Given the description of an element on the screen output the (x, y) to click on. 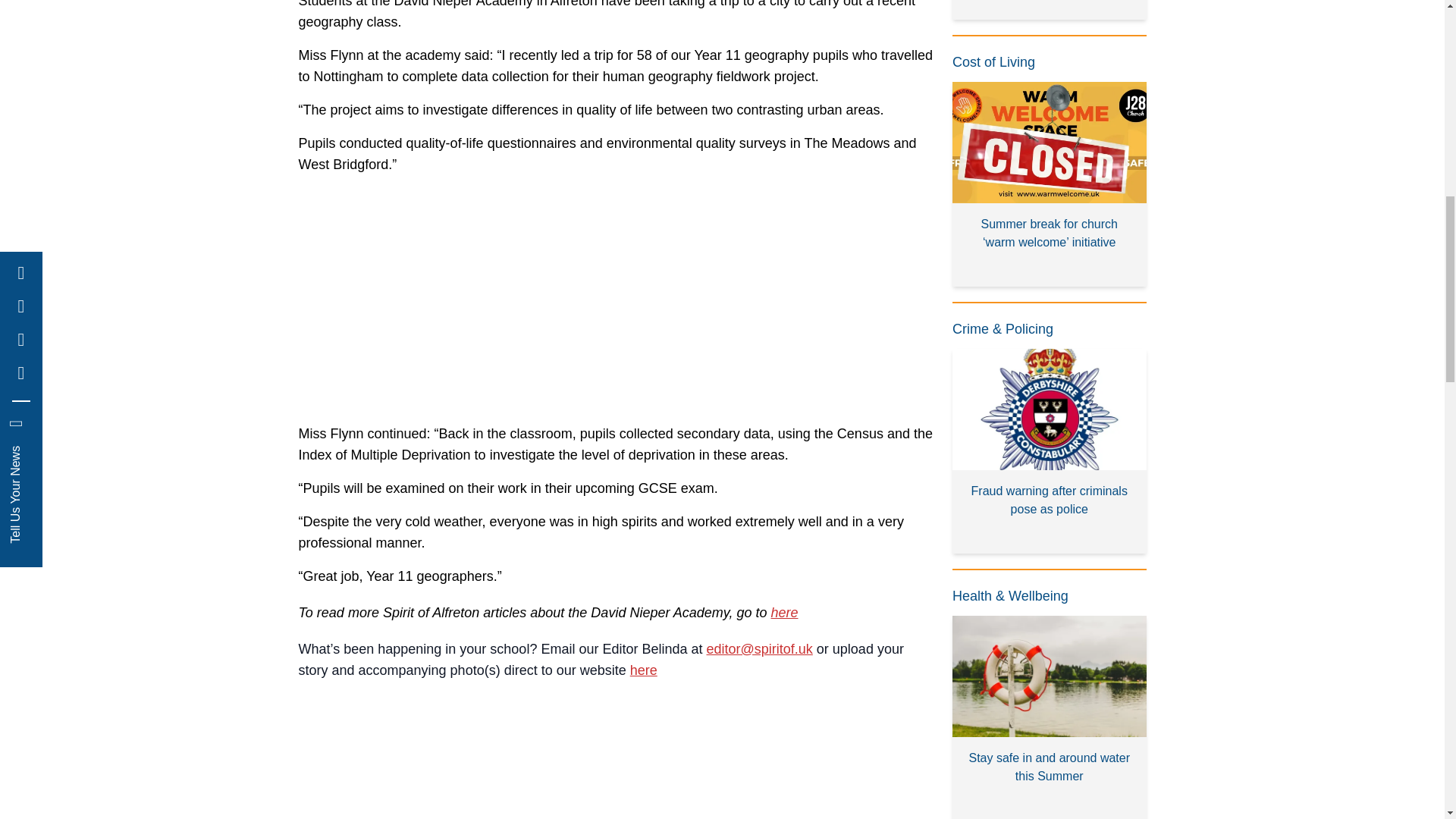
here (783, 612)
Stay safe in and around water this Summer (1049, 717)
here (644, 670)
Antiques roadshow event at community centre (1049, 9)
Fraud warning after criminals pose as police (1049, 450)
